Given the description of an element on the screen output the (x, y) to click on. 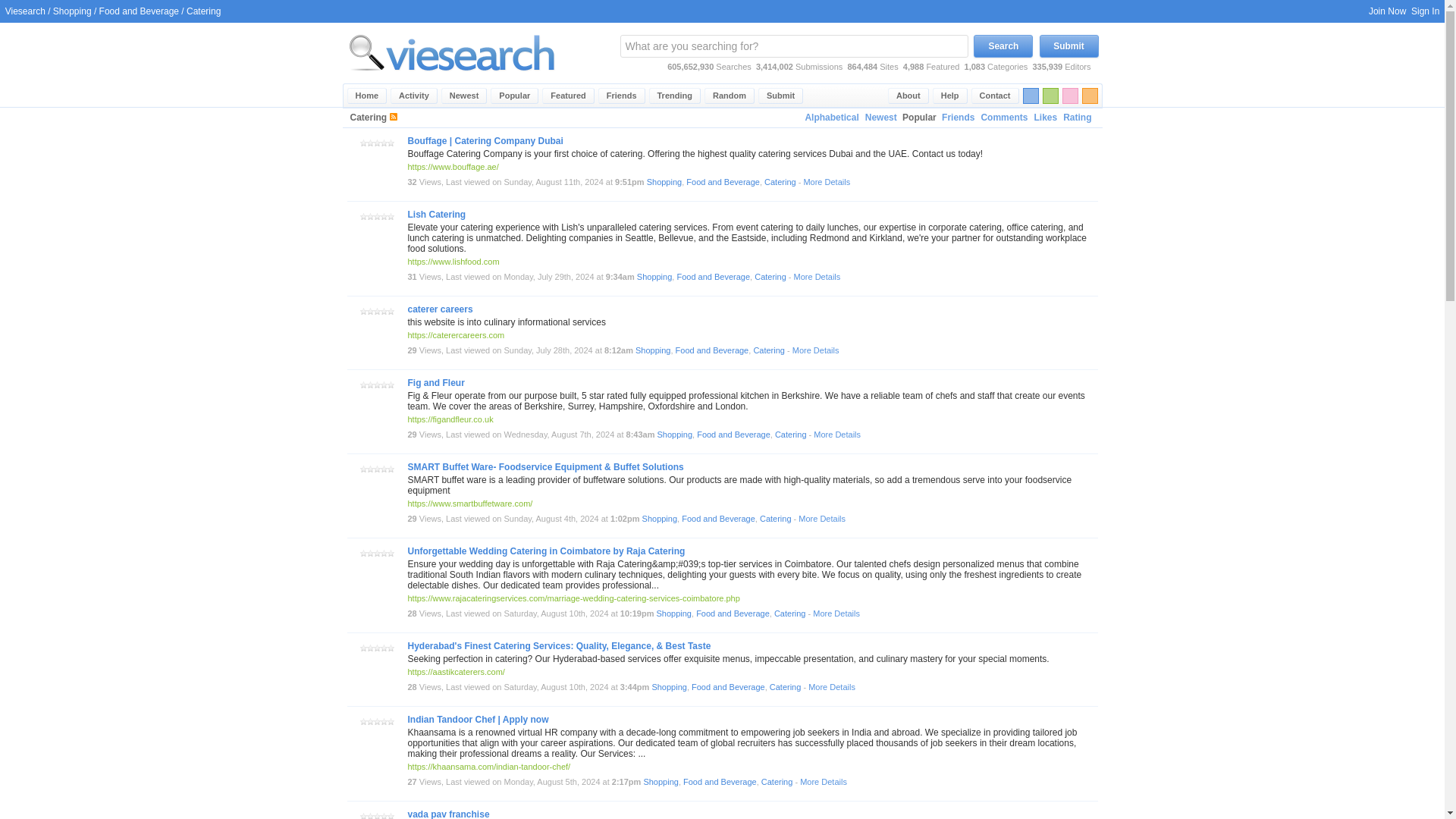
Switch this page to blue (1030, 95)
Friends (957, 117)
More Details (826, 181)
Trending search keywords on Viesearch (674, 95)
Food and Beverage (722, 181)
Newest (464, 95)
Likes (1044, 117)
Join Now (1387, 10)
Activity (414, 95)
Recent social activity (414, 95)
